Given the description of an element on the screen output the (x, y) to click on. 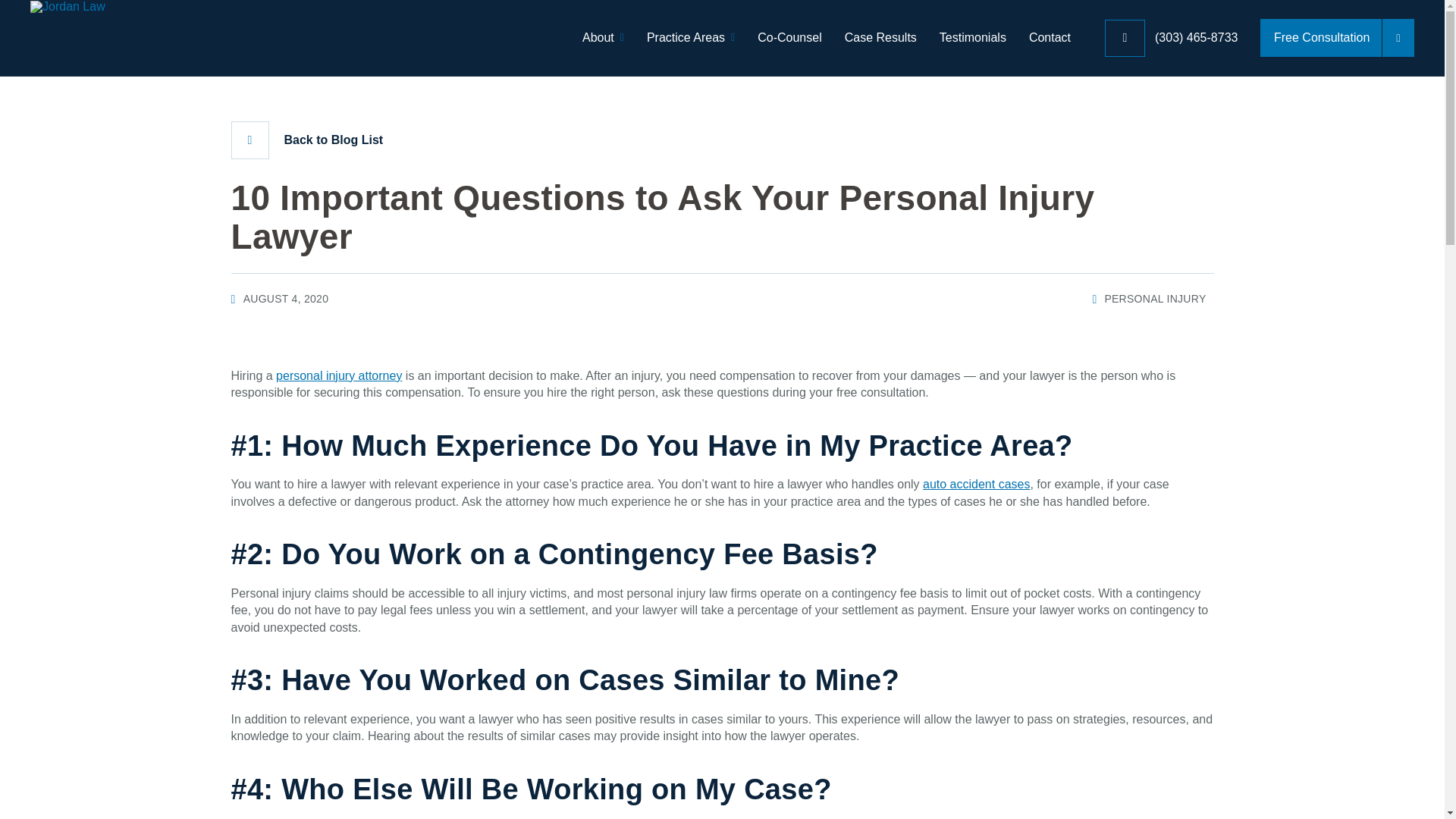
Co-Counsel (789, 38)
About (603, 38)
Practice Areas (690, 38)
